Given the description of an element on the screen output the (x, y) to click on. 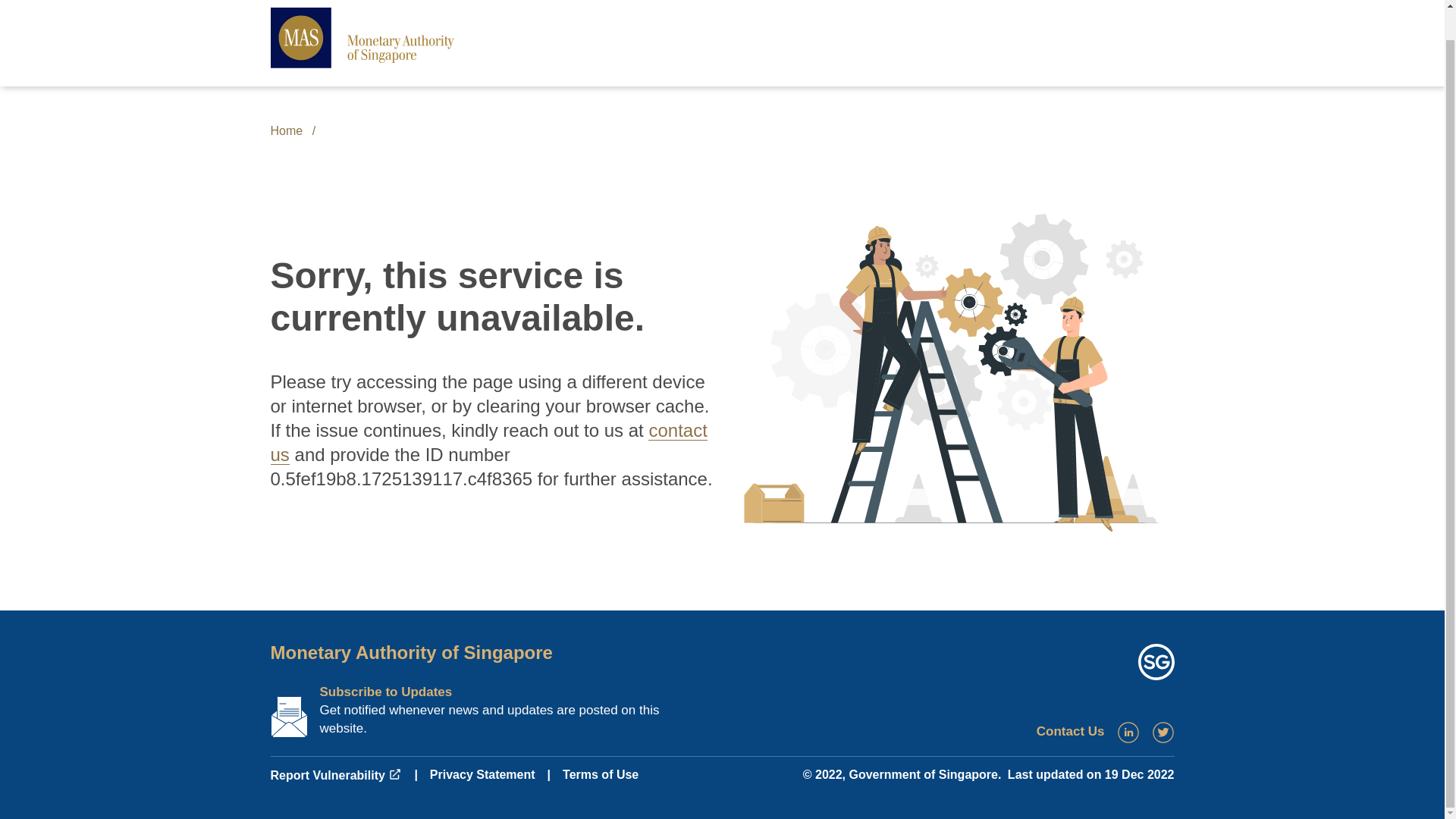
Report Vulnerability (335, 775)
Contact Us (1070, 730)
contact us (487, 442)
Home (285, 130)
Monetary Authority of Singapore (410, 652)
Terms of Use (600, 774)
Privacy Statement (482, 774)
